Given the description of an element on the screen output the (x, y) to click on. 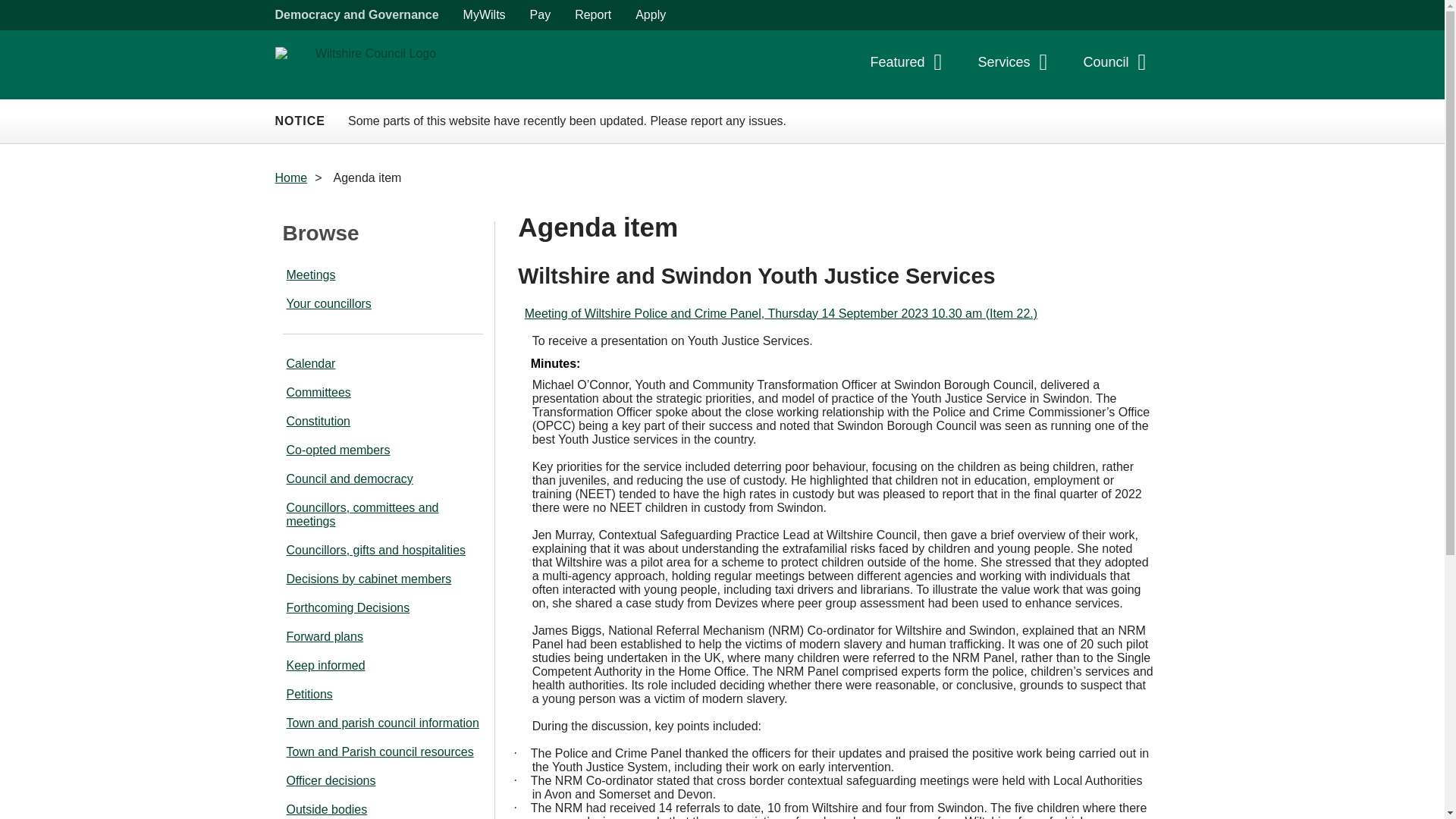
Link to "Wiltshire Council" homepage (369, 64)
MyWilts (484, 15)
Report (592, 15)
Featured (909, 66)
Pay (540, 15)
Apply (650, 15)
